Given the description of an element on the screen output the (x, y) to click on. 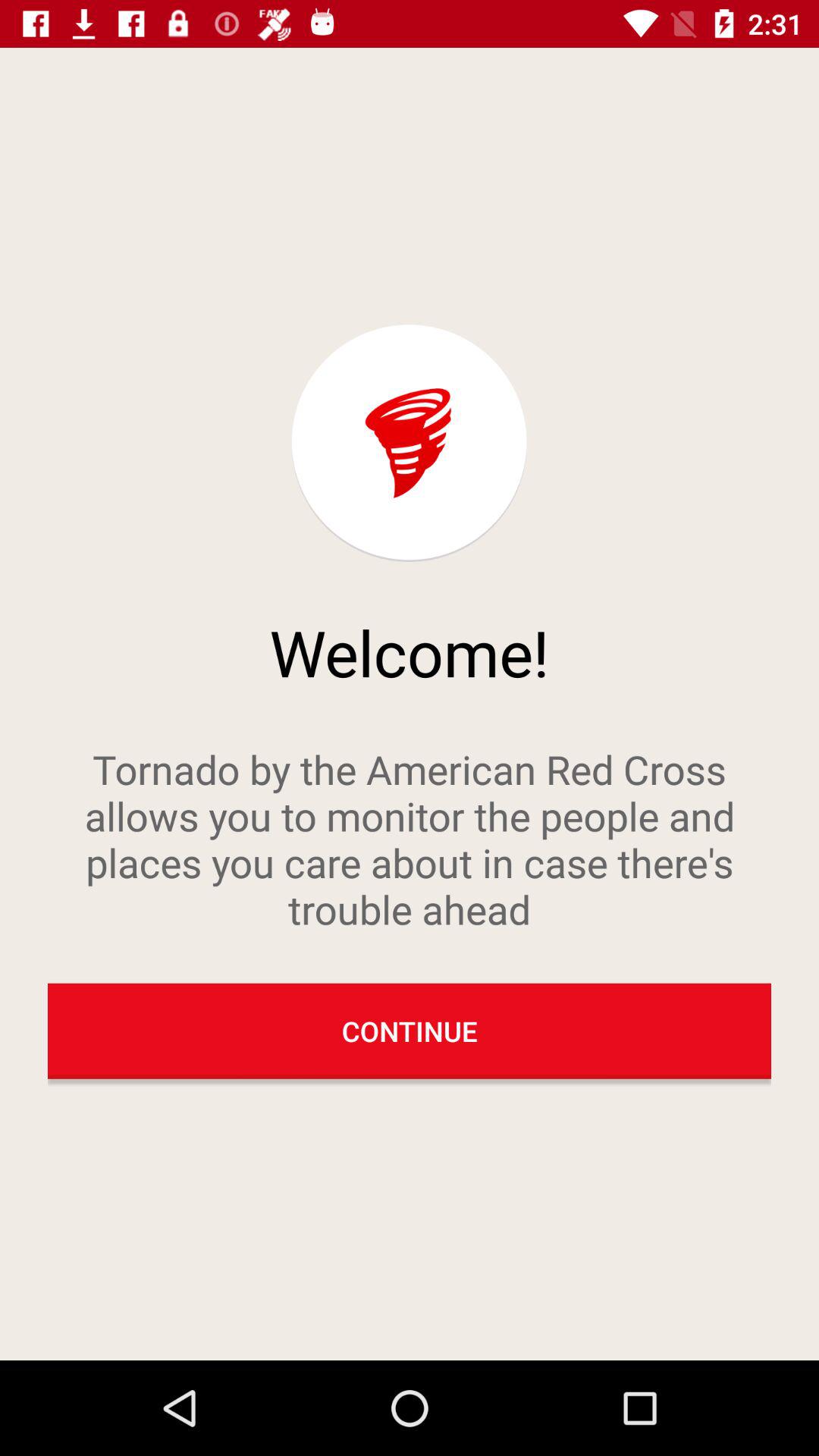
tap the continue button (409, 1030)
